Given the description of an element on the screen output the (x, y) to click on. 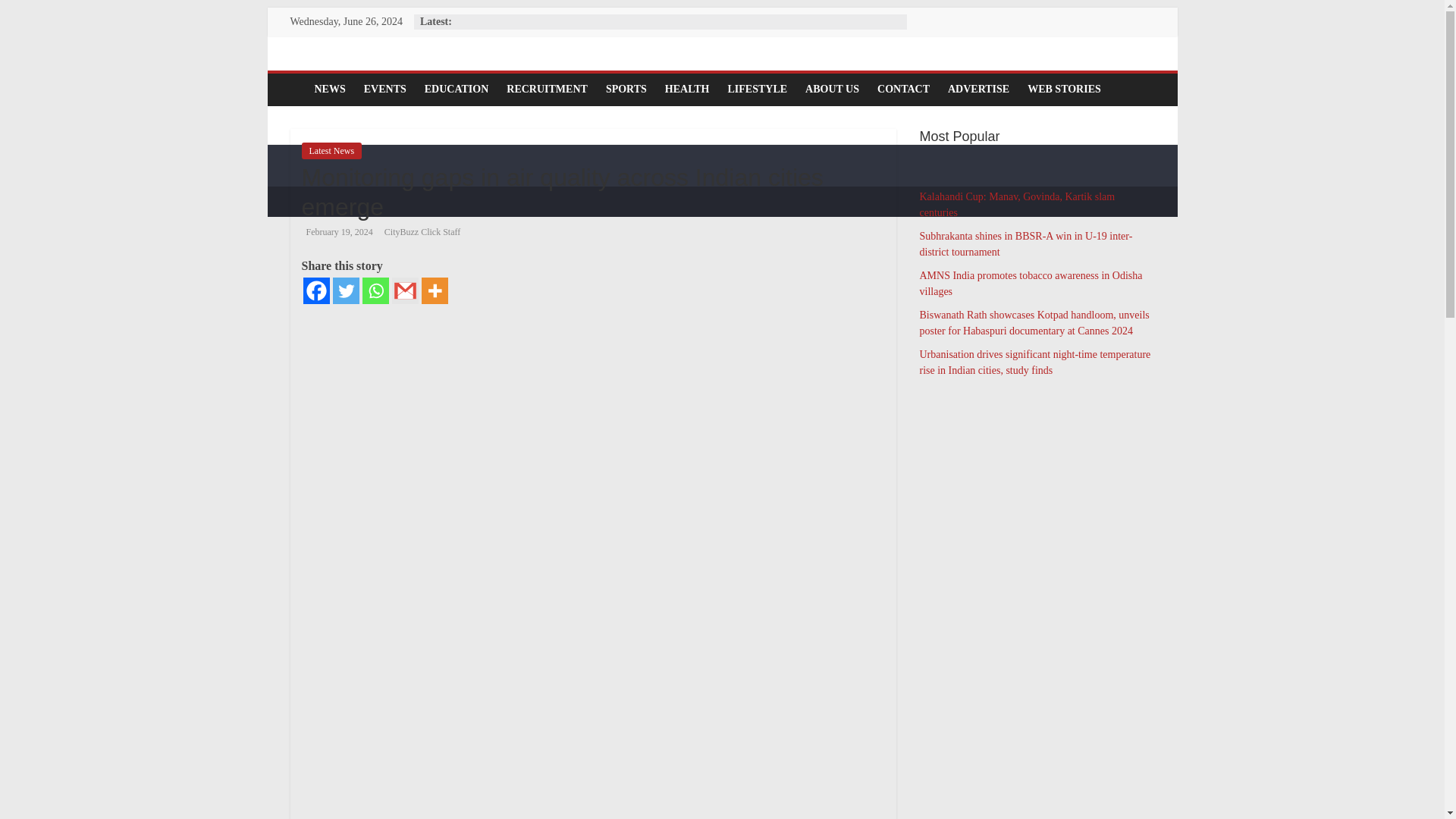
ADVERTISE (978, 89)
CONTACT (903, 89)
LIFESTYLE (756, 89)
10:47 am (336, 231)
More (435, 290)
ABOUT US (831, 89)
EVENTS (384, 89)
Whatsapp (375, 290)
EDUCATION (455, 89)
NEWS (328, 89)
Facebook (316, 290)
HEALTH (687, 89)
Twitter (344, 290)
Google Gmail (404, 290)
RECRUITMENT (546, 89)
